Given the description of an element on the screen output the (x, y) to click on. 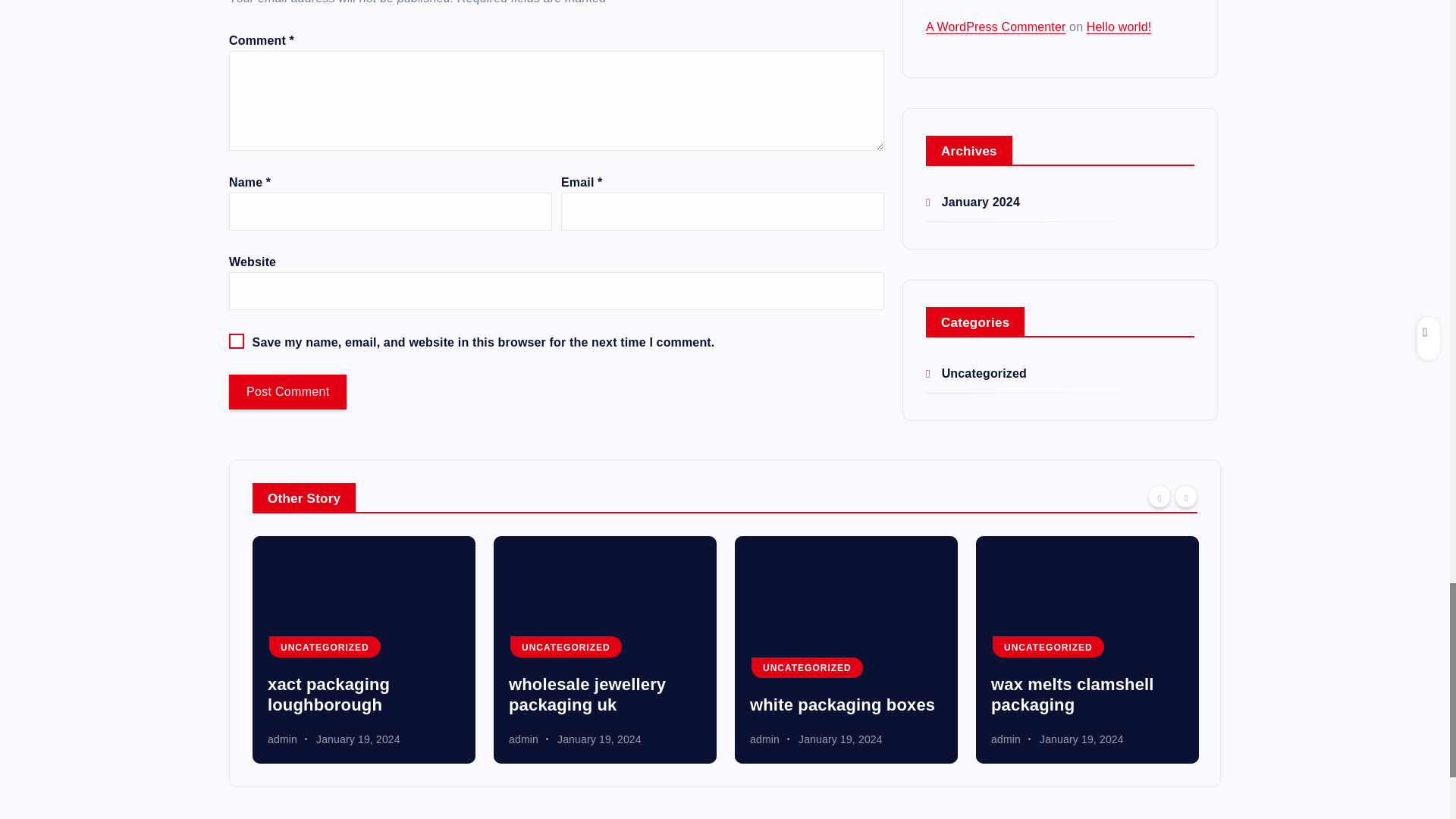
yes (236, 340)
Post Comment (287, 391)
Post Comment (287, 391)
